Given the description of an element on the screen output the (x, y) to click on. 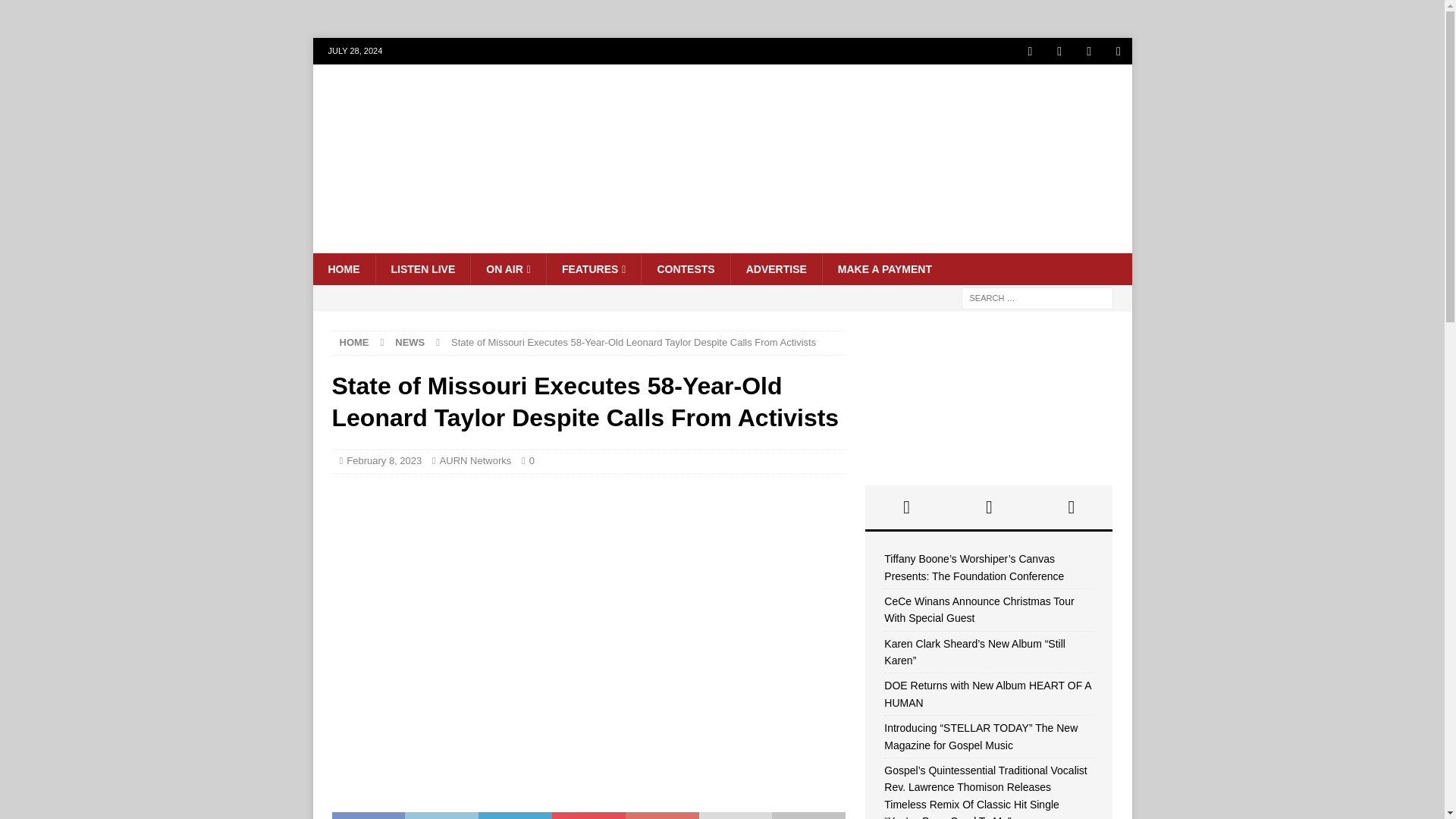
HOME (354, 342)
ON AIR (508, 269)
HOME (343, 269)
MAKE A PAYMENT (884, 269)
NEWS (409, 342)
FEATURES (594, 269)
LISTEN LIVE (422, 269)
0 (531, 460)
Search (56, 11)
Philly's Favor 100.7 FM (722, 244)
ADVERTISE (776, 269)
February 8, 2023 (384, 460)
AURN Networks (475, 460)
CONTESTS (684, 269)
